Given the description of an element on the screen output the (x, y) to click on. 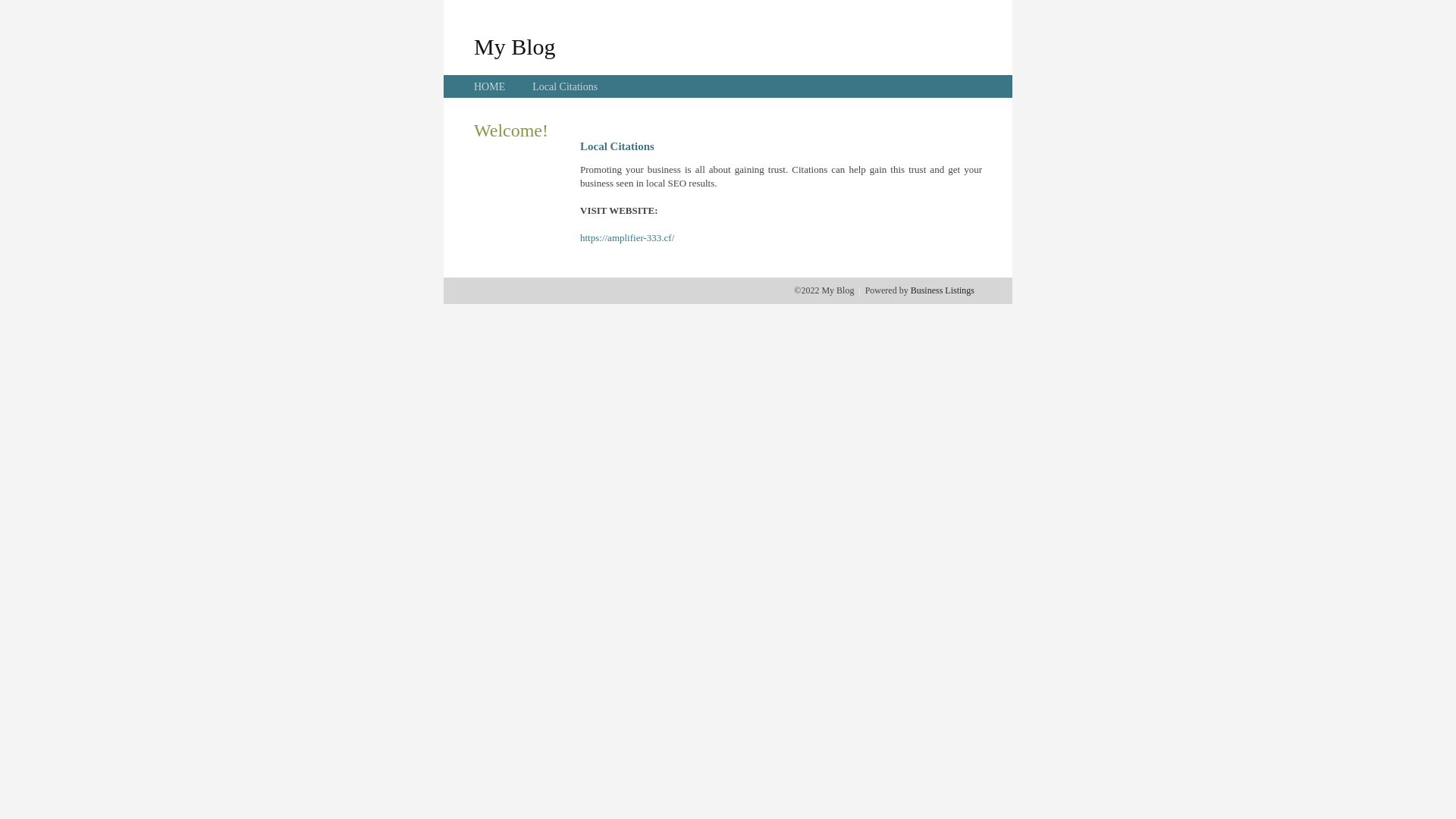
https://amplifier-333.cf/ Element type: text (627, 237)
Local Citations Element type: text (564, 86)
My Blog Element type: text (514, 46)
HOME Element type: text (489, 86)
Business Listings Element type: text (942, 290)
